Given the description of an element on the screen output the (x, y) to click on. 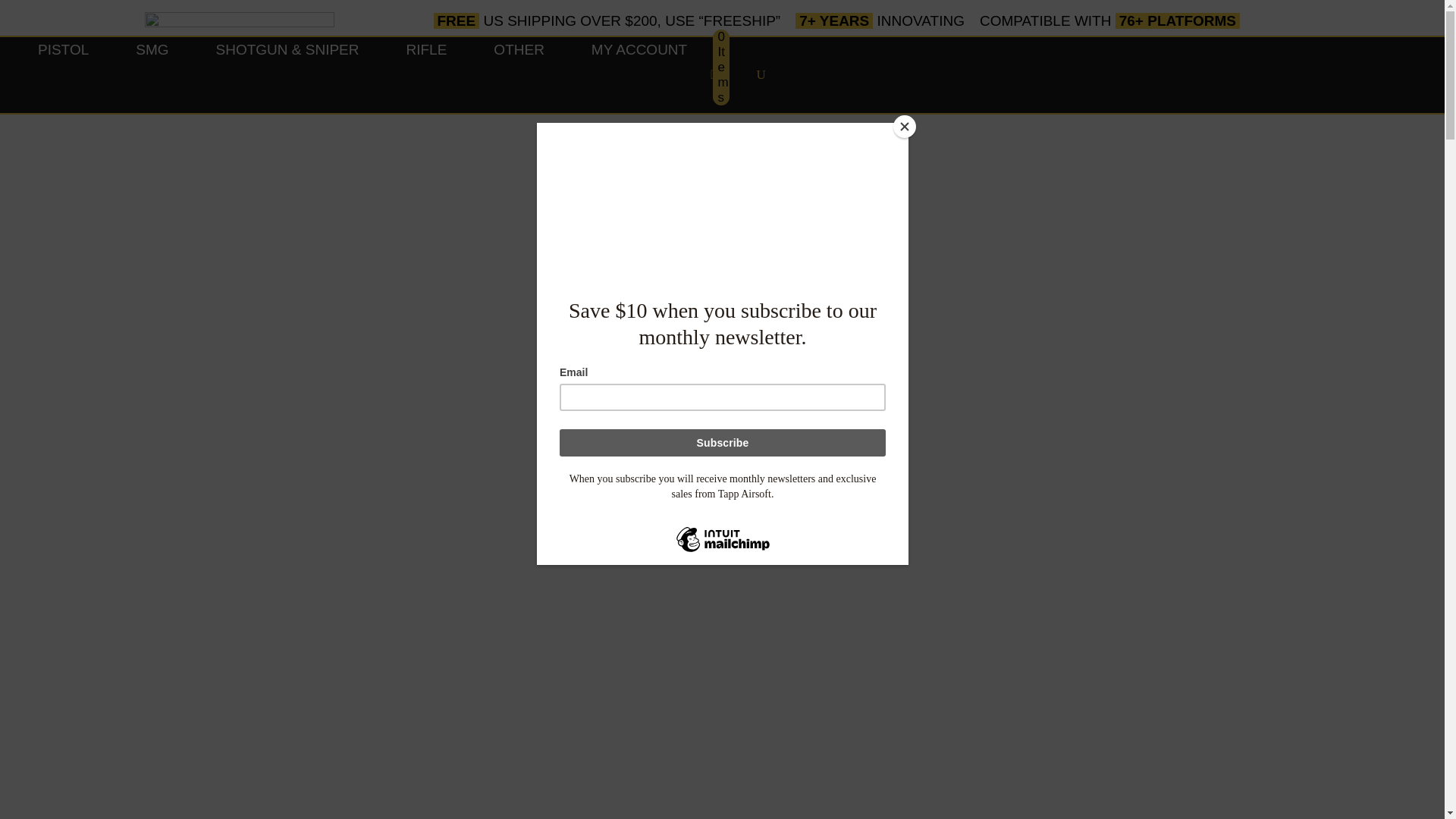
PISTOL (63, 74)
Tapp Airsoft (238, 21)
RIFLE (427, 74)
OTHER (519, 74)
MY ACCOUNT (638, 74)
